Given the description of an element on the screen output the (x, y) to click on. 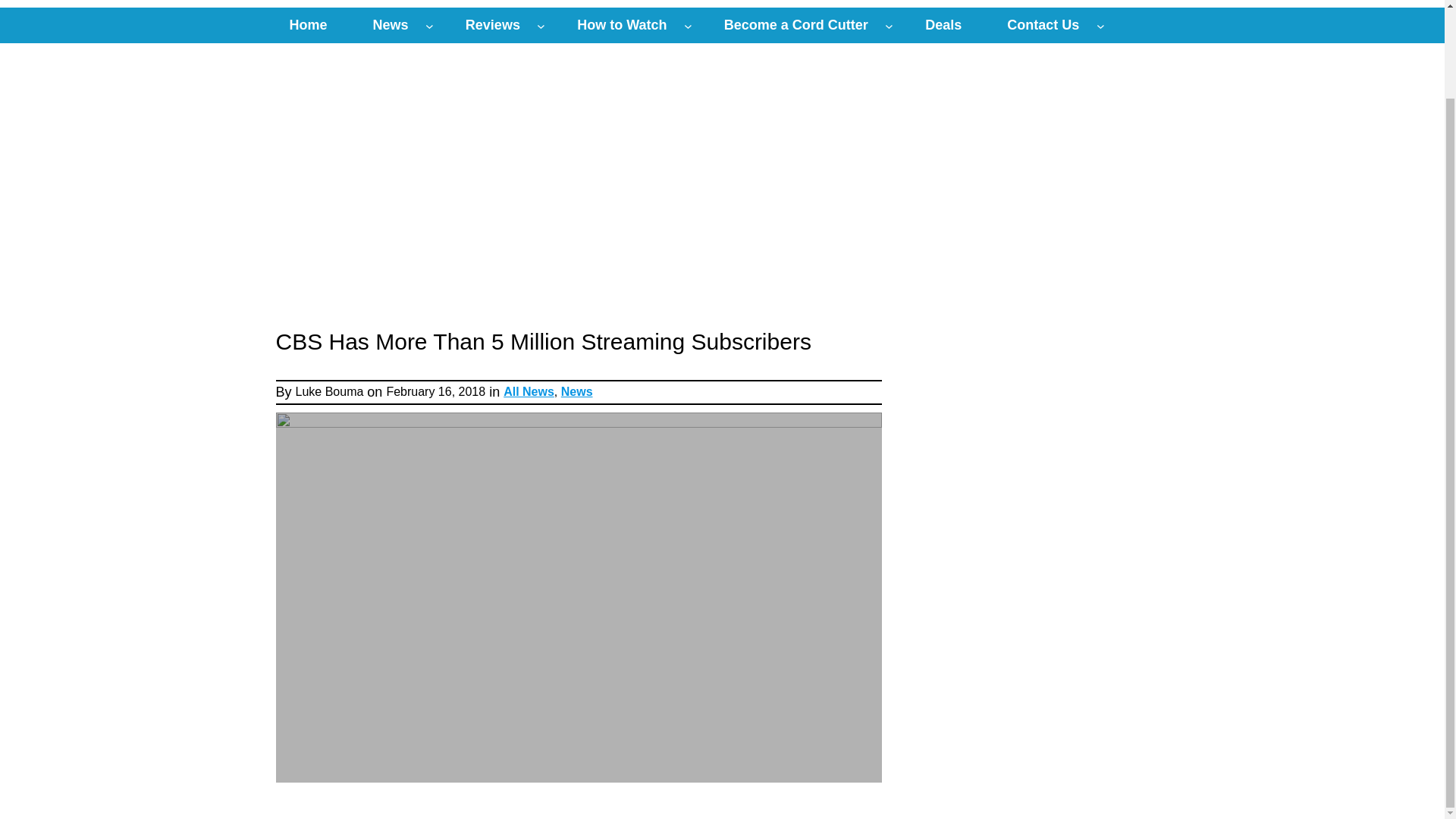
Reviews (492, 25)
News (390, 25)
Home (308, 25)
